Given the description of an element on the screen output the (x, y) to click on. 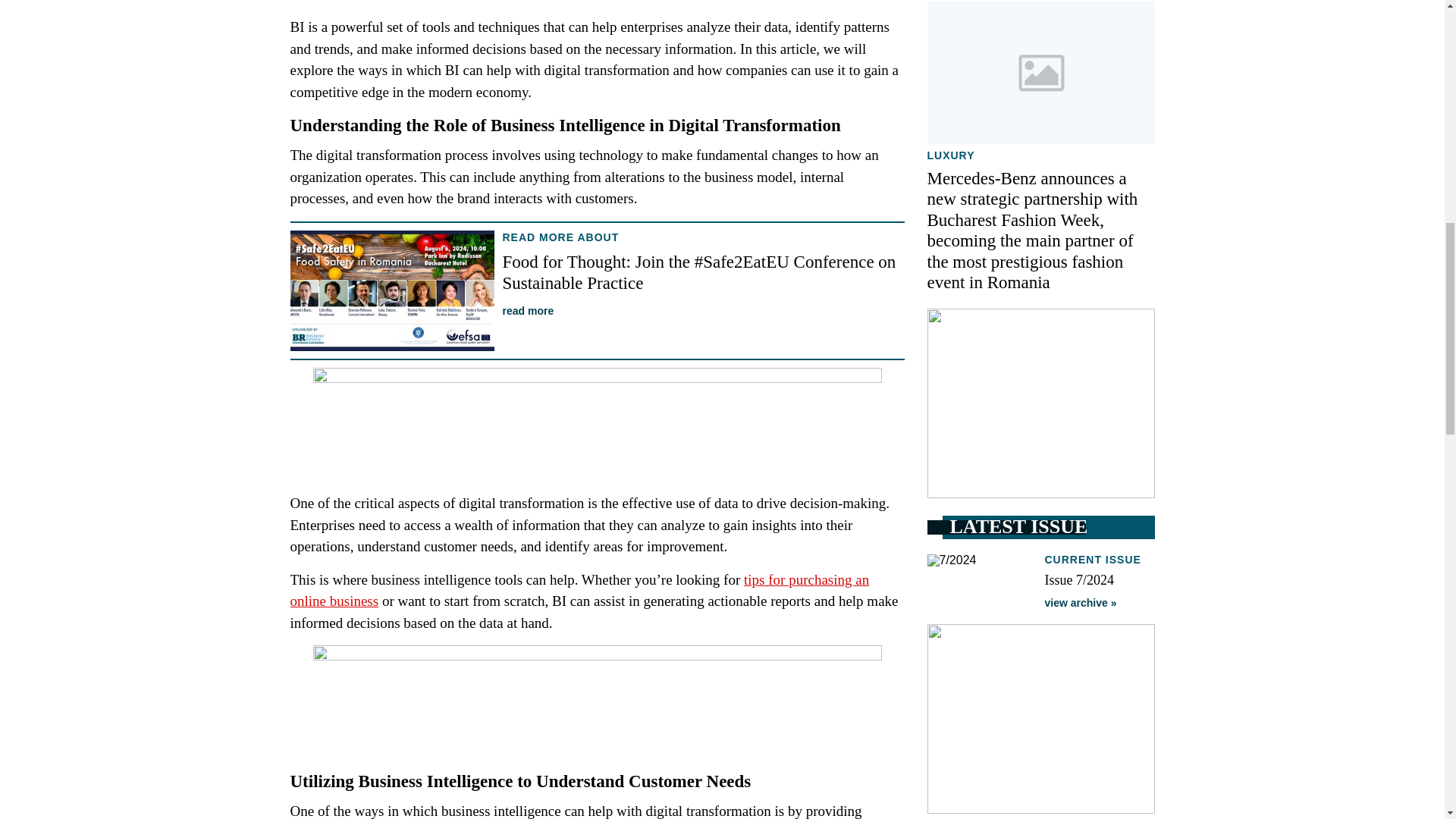
tips for purchasing an online business (579, 590)
read more (527, 310)
